Given the description of an element on the screen output the (x, y) to click on. 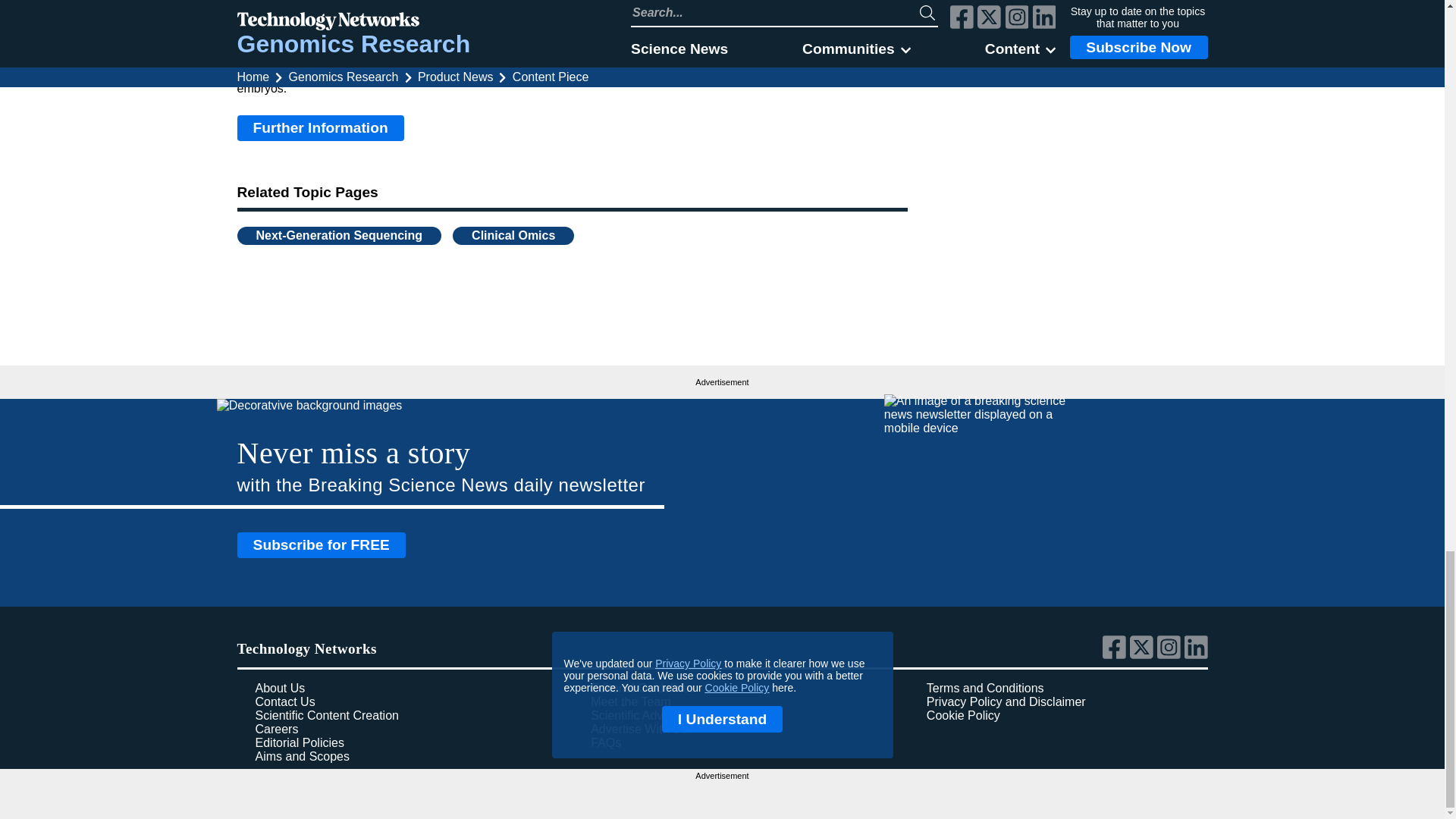
Link to Technology Networks' linkedin page (1196, 655)
Link to Technology Networks' facebook page (1115, 655)
Link to Technology Networks' twitter page (1143, 655)
Link to Technology Networks' instagram page (1171, 655)
